Given the description of an element on the screen output the (x, y) to click on. 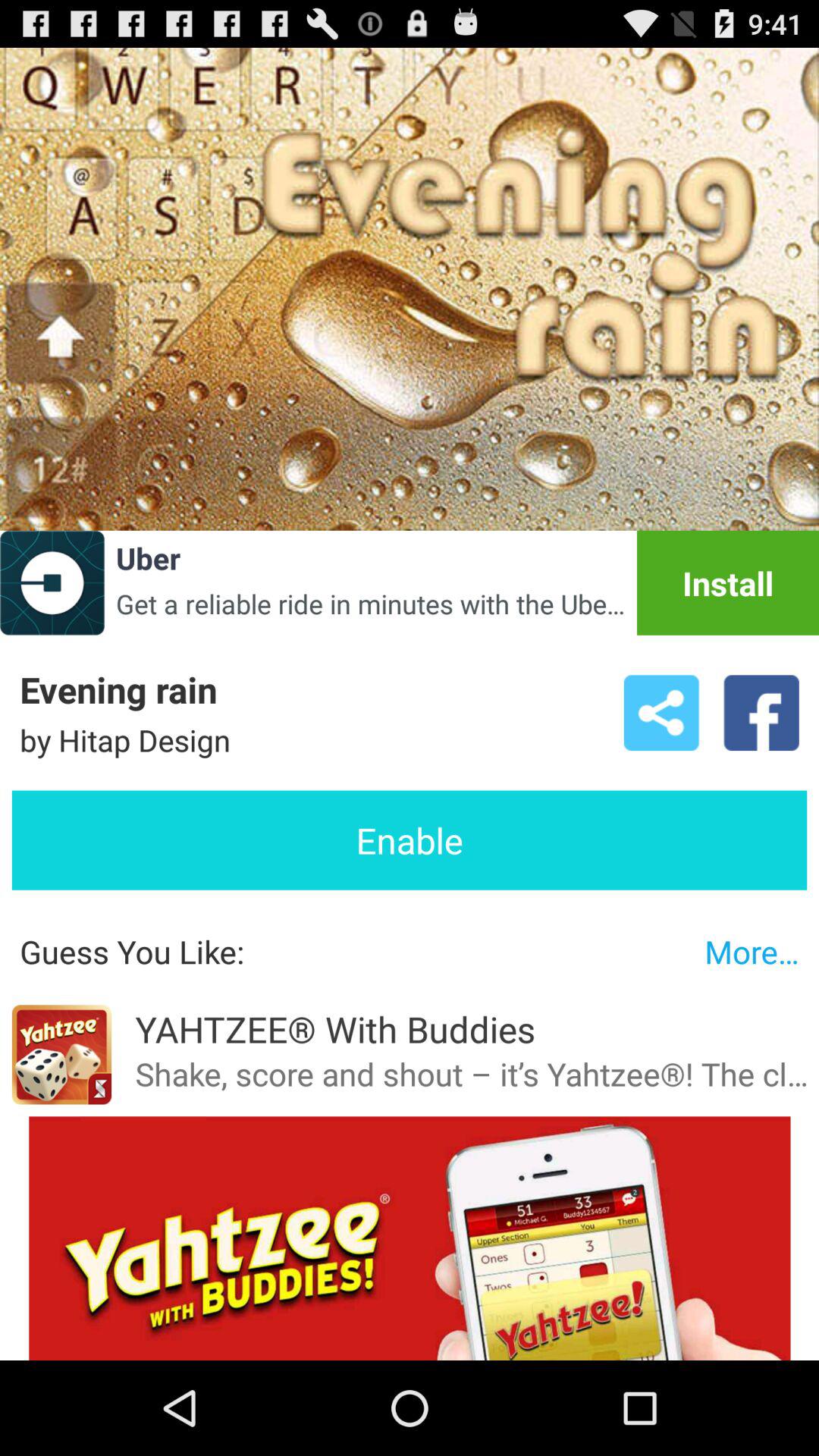
swipe to enable (409, 840)
